Given the description of an element on the screen output the (x, y) to click on. 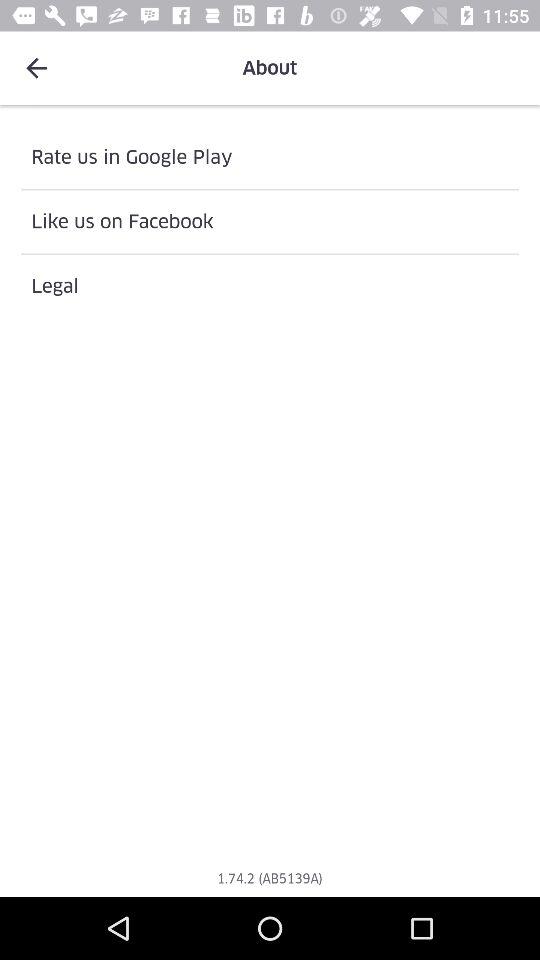
turn on icon at the top left corner (36, 68)
